Given the description of an element on the screen output the (x, y) to click on. 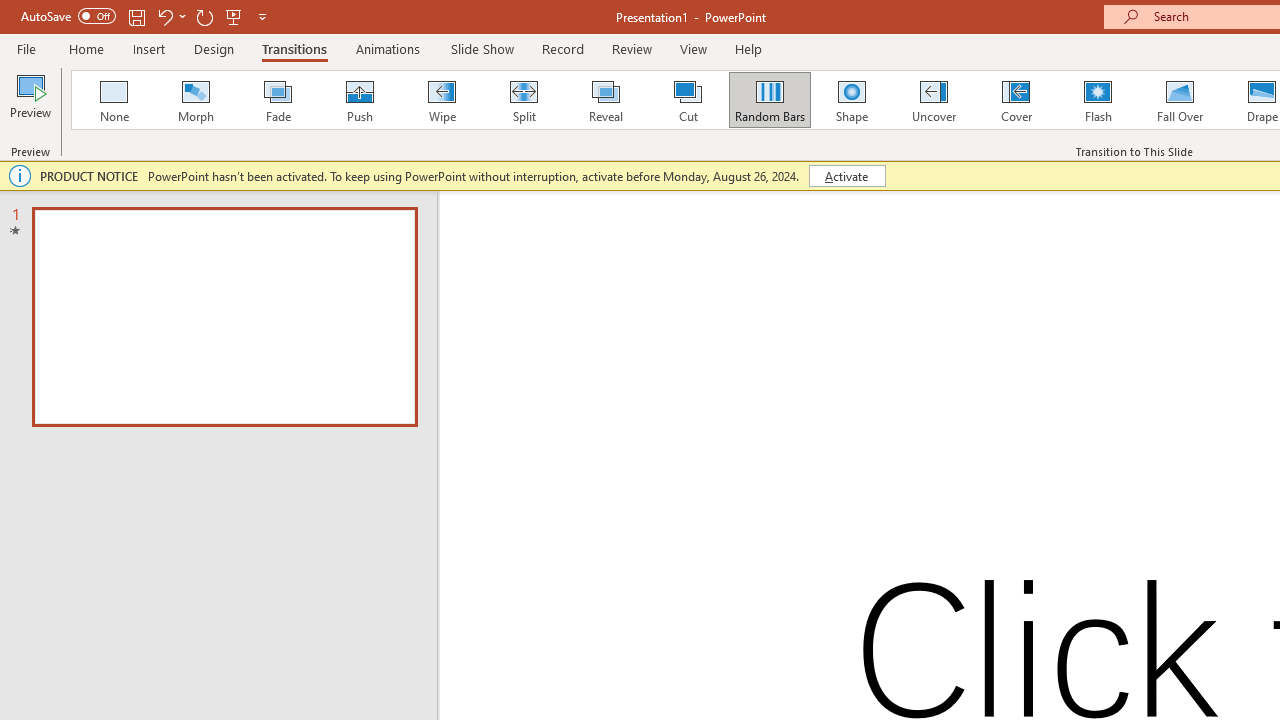
Activate (846, 175)
Flash (1098, 100)
Morph (195, 100)
